Given the description of an element on the screen output the (x, y) to click on. 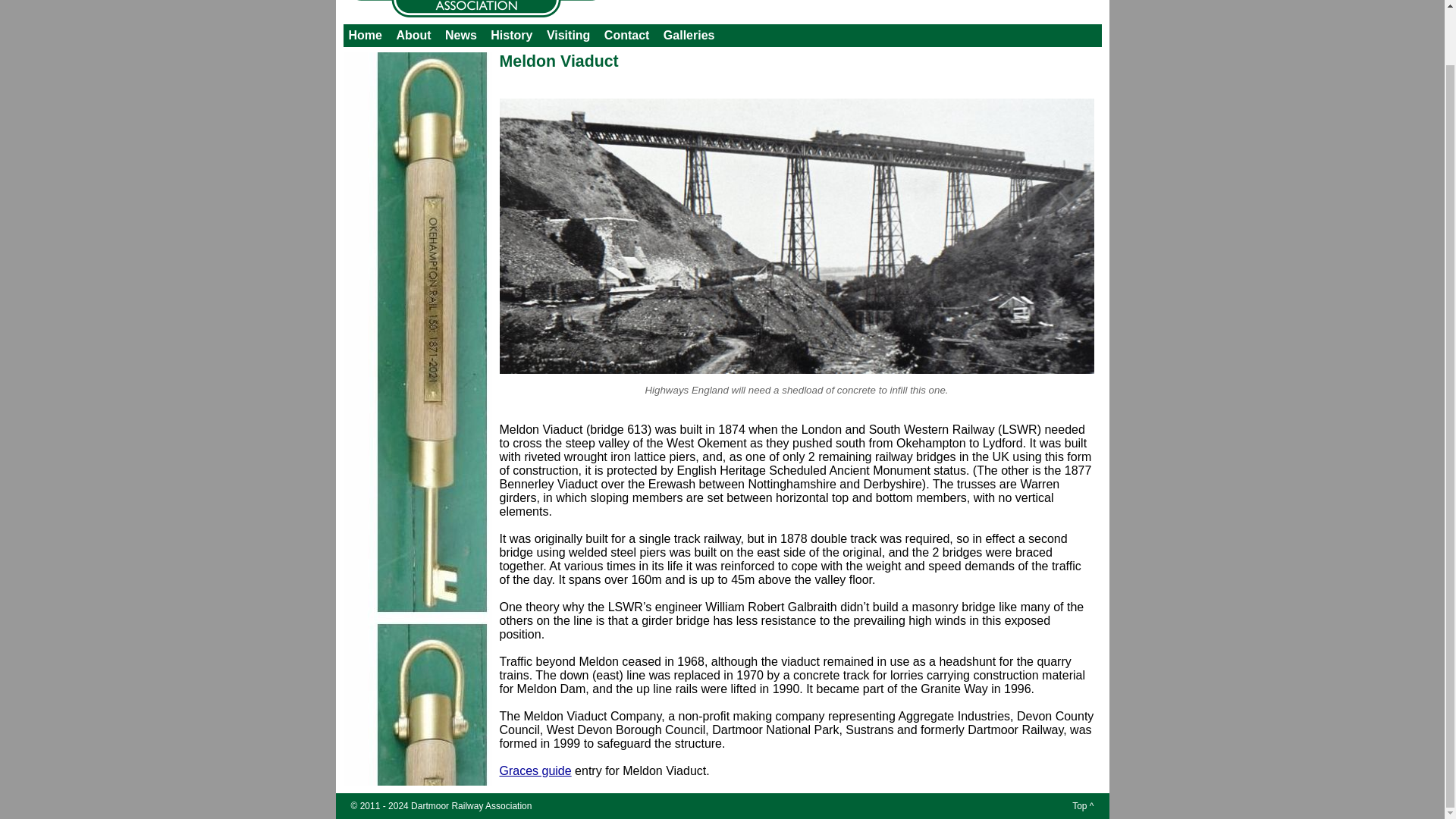
Graces guide (534, 770)
